Given the description of an element on the screen output the (x, y) to click on. 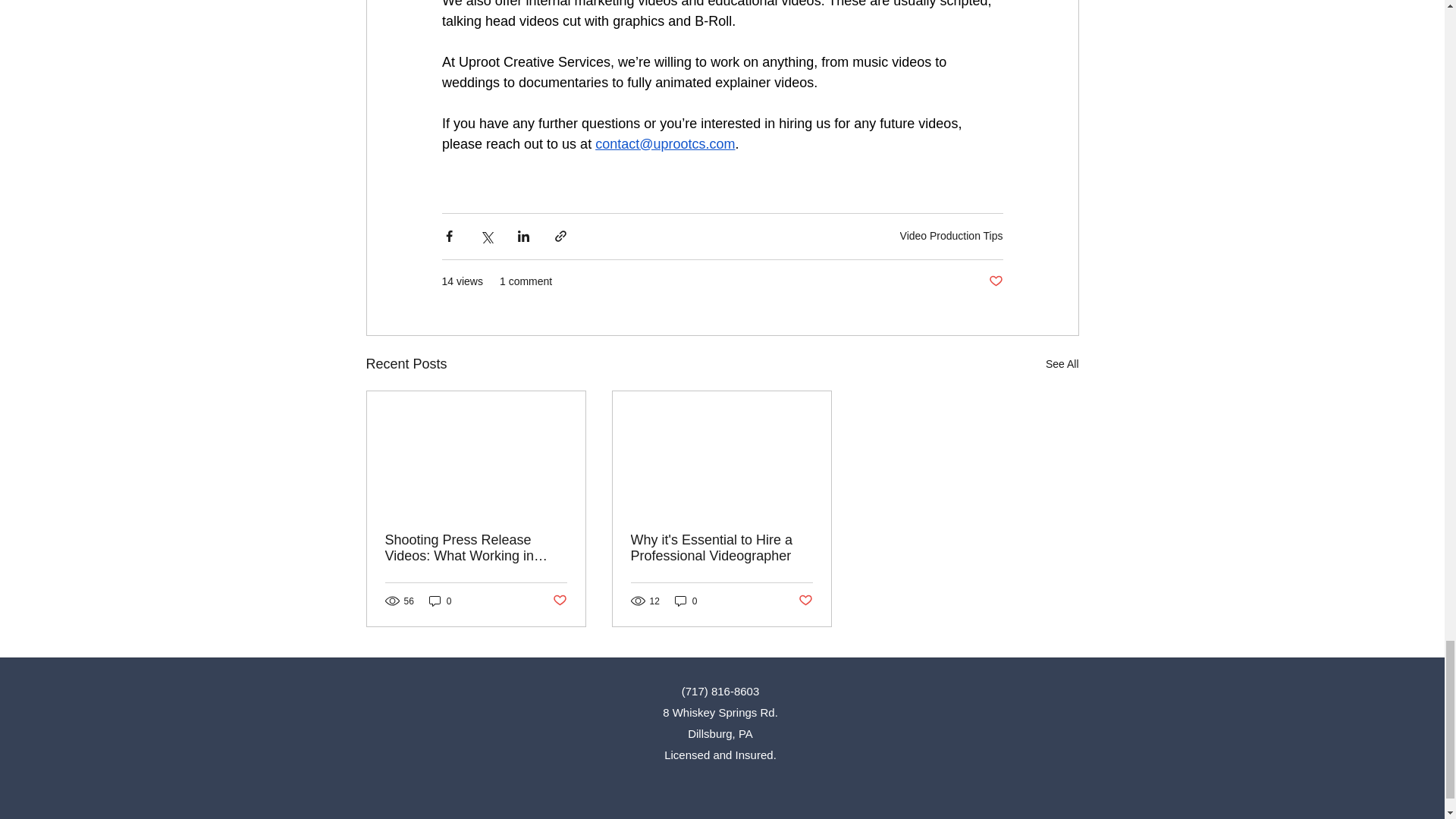
Post not marked as liked (995, 280)
See All (1061, 363)
0 (440, 600)
Video Production Tips (951, 235)
Post not marked as liked (558, 600)
